Given the description of an element on the screen output the (x, y) to click on. 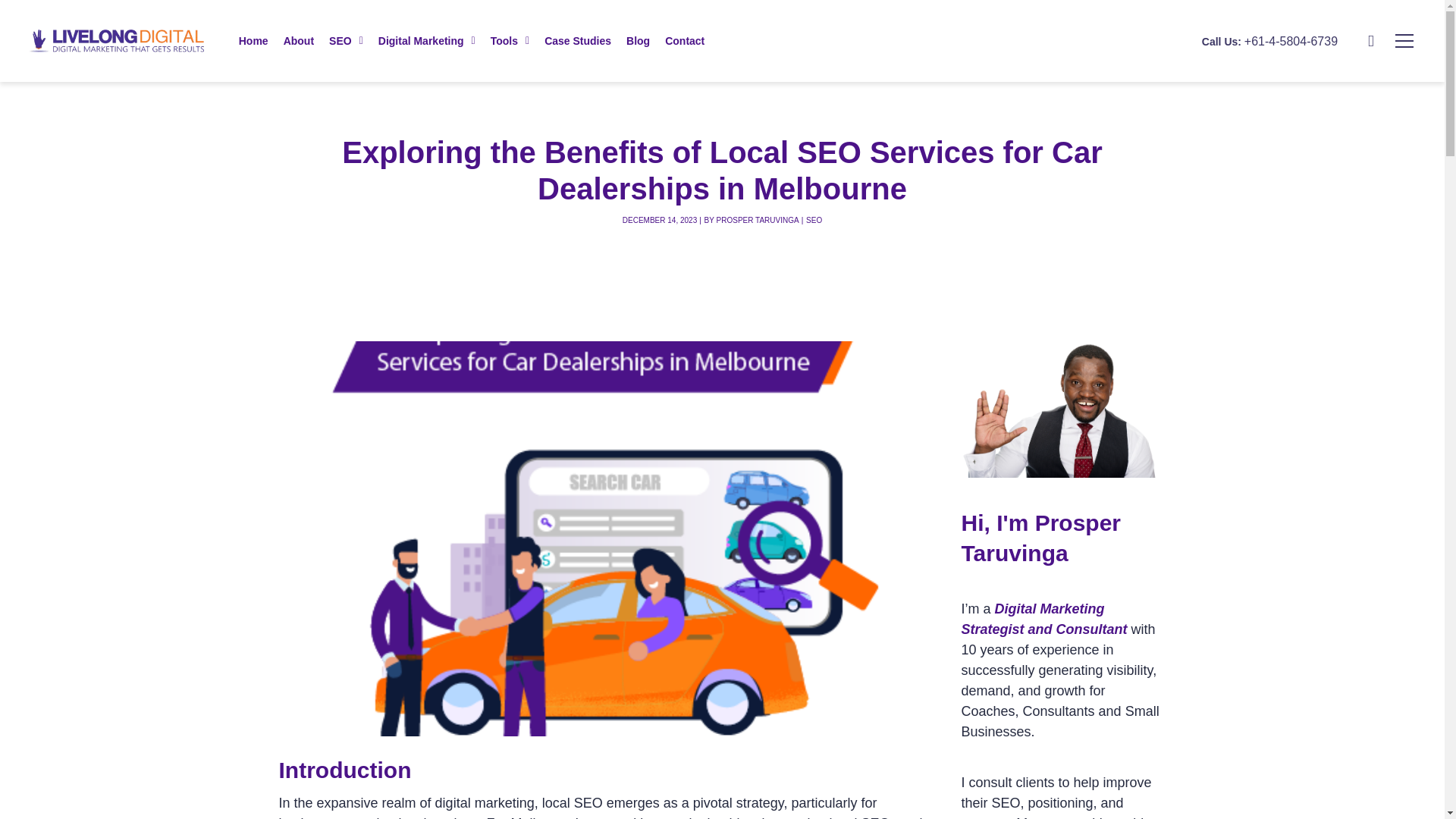
About (298, 40)
Home (253, 40)
SEO (346, 40)
Digital Marketing (427, 40)
